Given the description of an element on the screen output the (x, y) to click on. 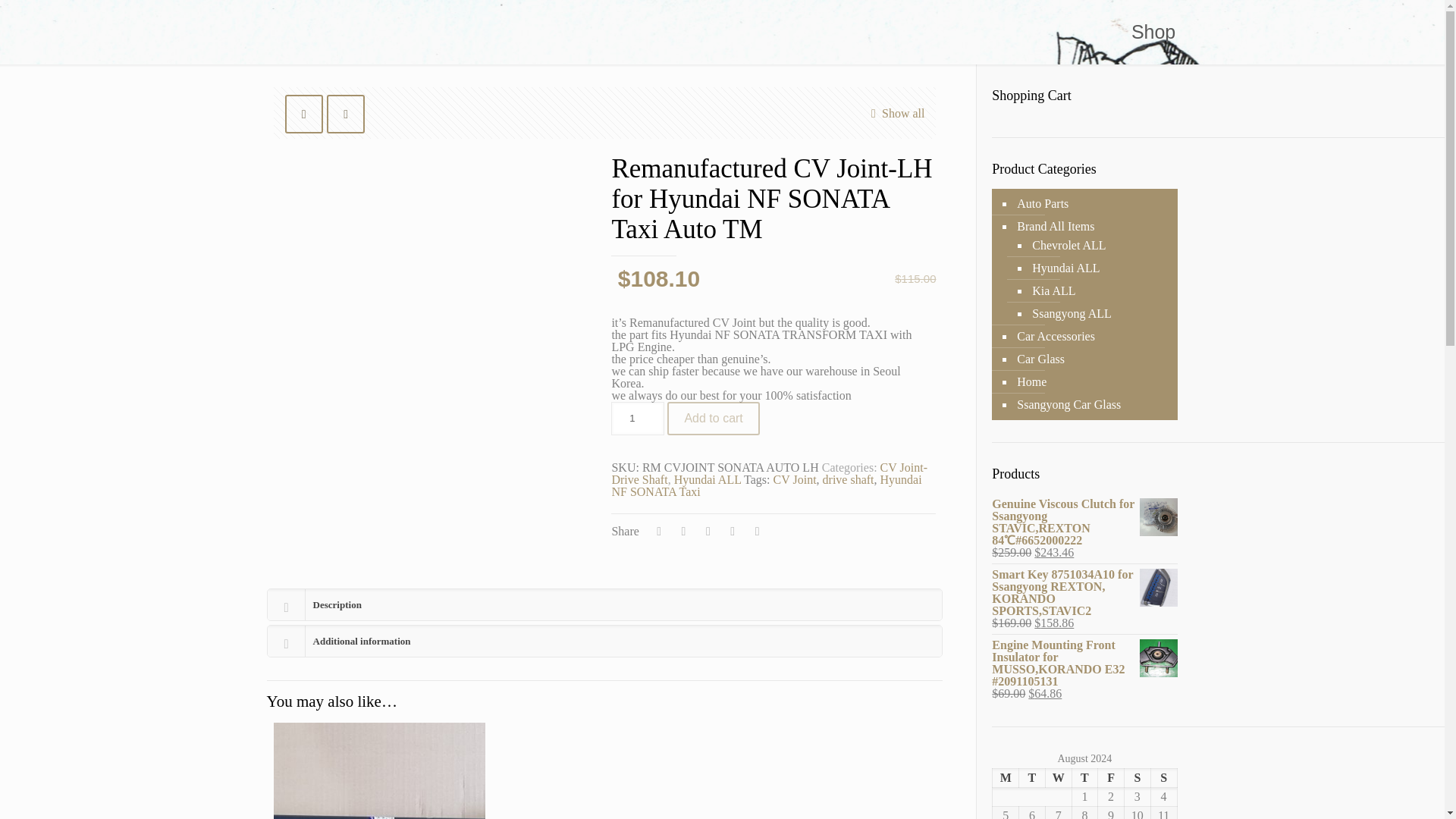
Tuesday (1032, 778)
Qty (637, 418)
Friday (1110, 778)
Thursday (1084, 778)
Monday (1005, 778)
1 (637, 418)
Saturday (1137, 778)
Wednesday (1058, 778)
